Given the description of an element on the screen output the (x, y) to click on. 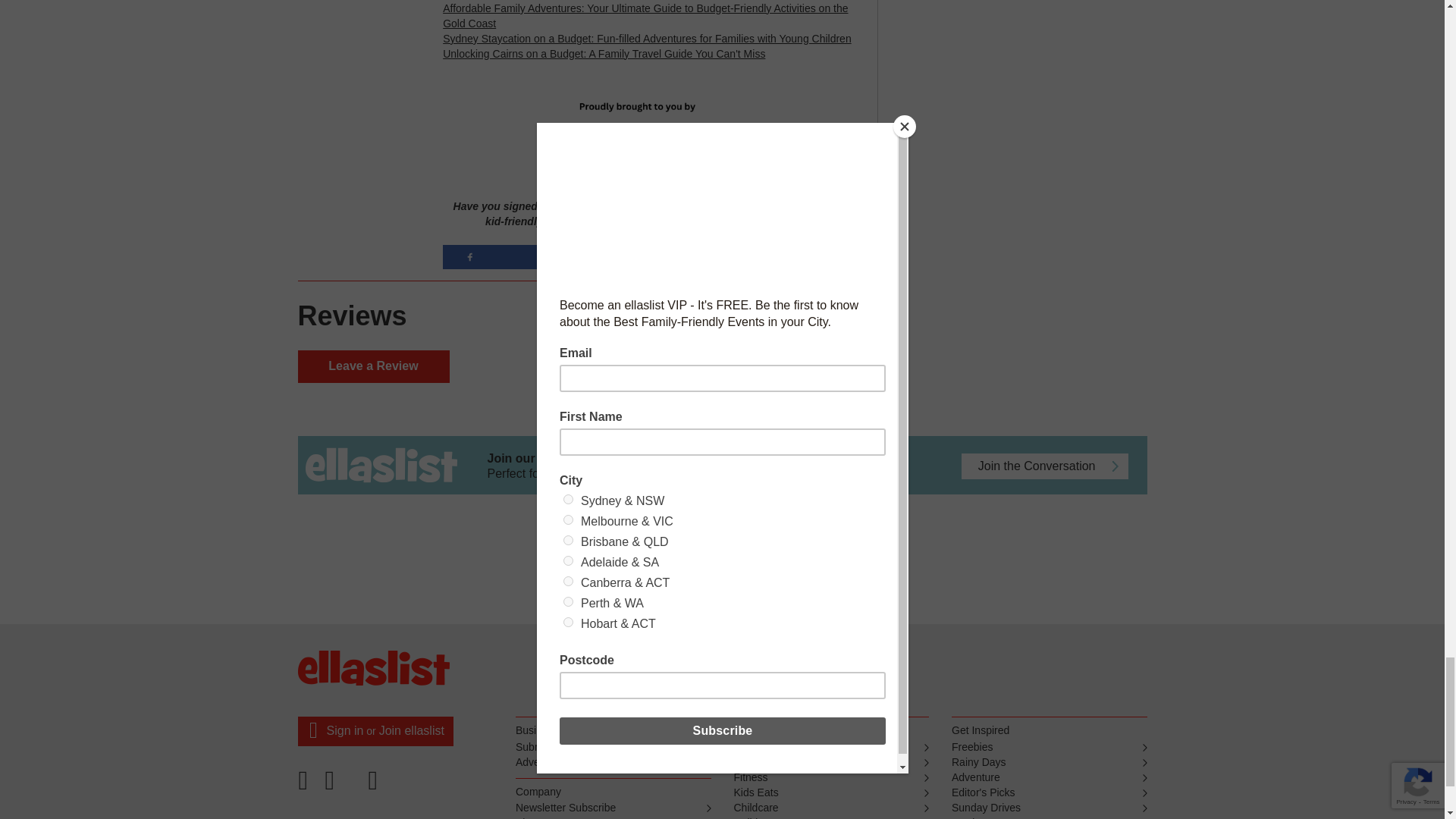
Leave a Review (372, 366)
Pinterest (341, 785)
Join ellaslist  (683, 205)
Facebook (306, 785)
Sign in (344, 730)
Instagram (375, 785)
Join ellaslist (411, 730)
Leave a Review (372, 366)
